Given the description of an element on the screen output the (x, y) to click on. 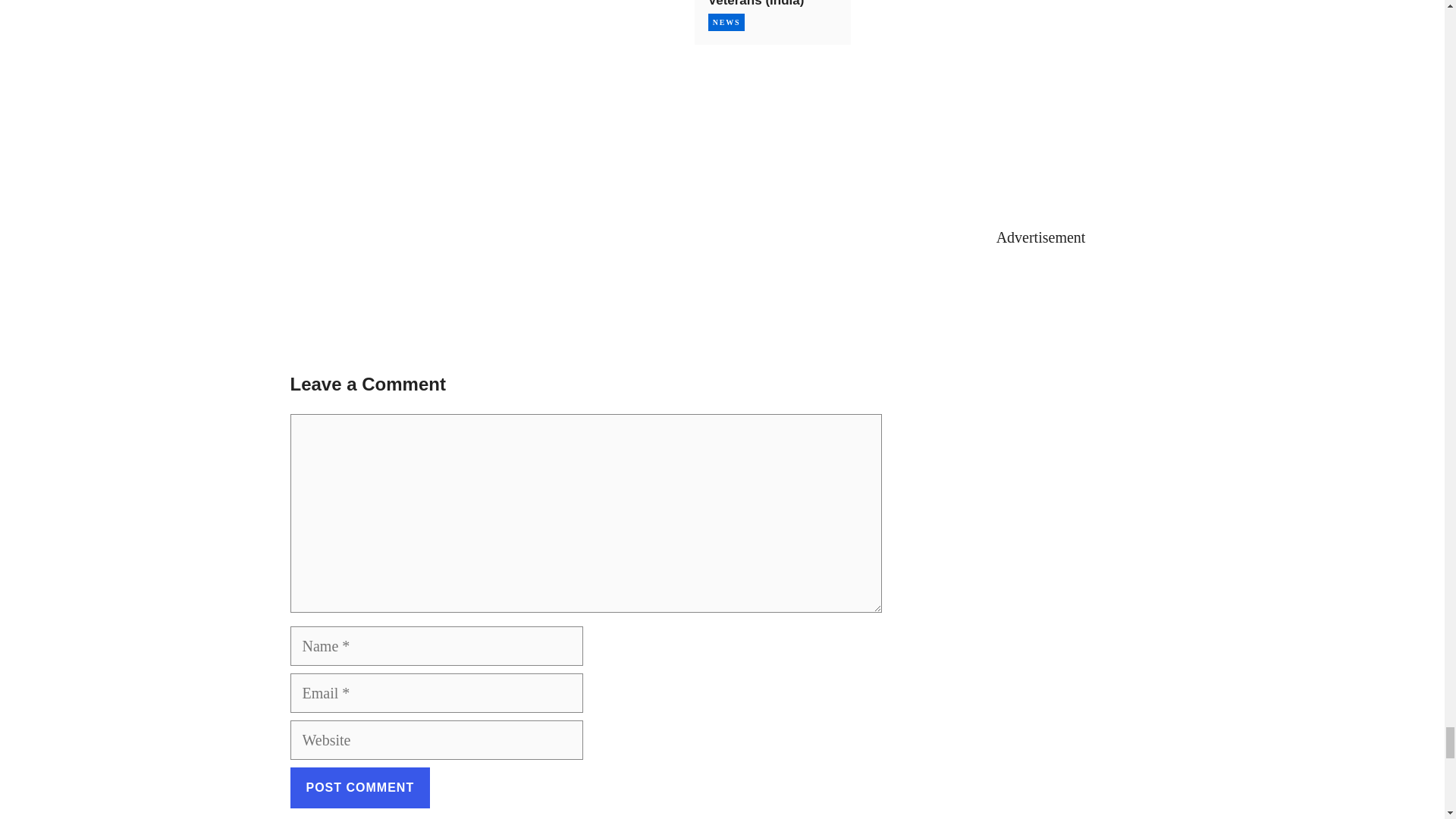
Post Comment (359, 787)
